Given the description of an element on the screen output the (x, y) to click on. 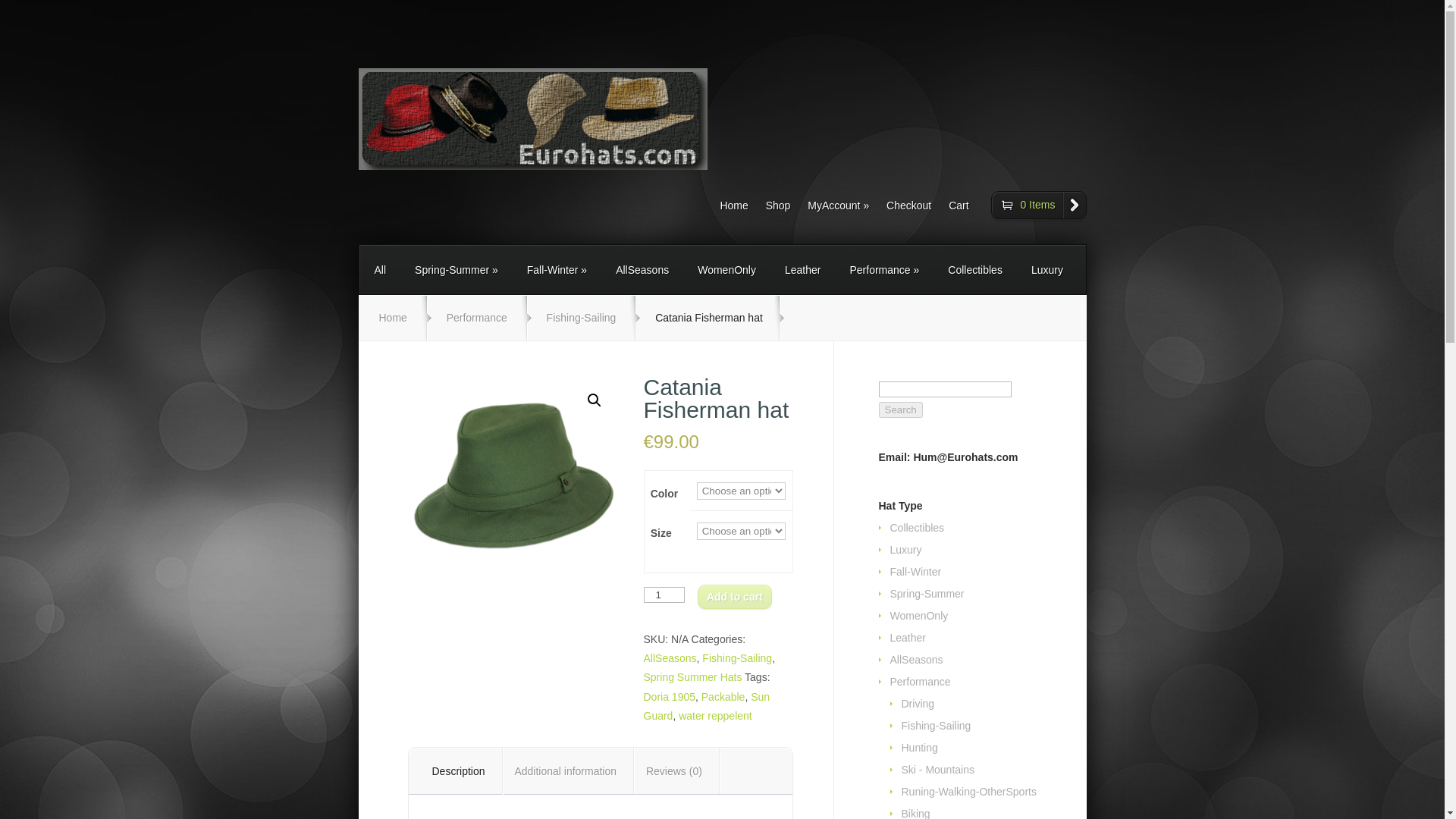
1 (663, 594)
Home (726, 208)
Checkout (901, 208)
Search (899, 409)
MyAccount (831, 208)
Cart (951, 208)
0 Items (1038, 204)
Shop (770, 208)
Catania Fisherman hat (512, 475)
